Given the description of an element on the screen output the (x, y) to click on. 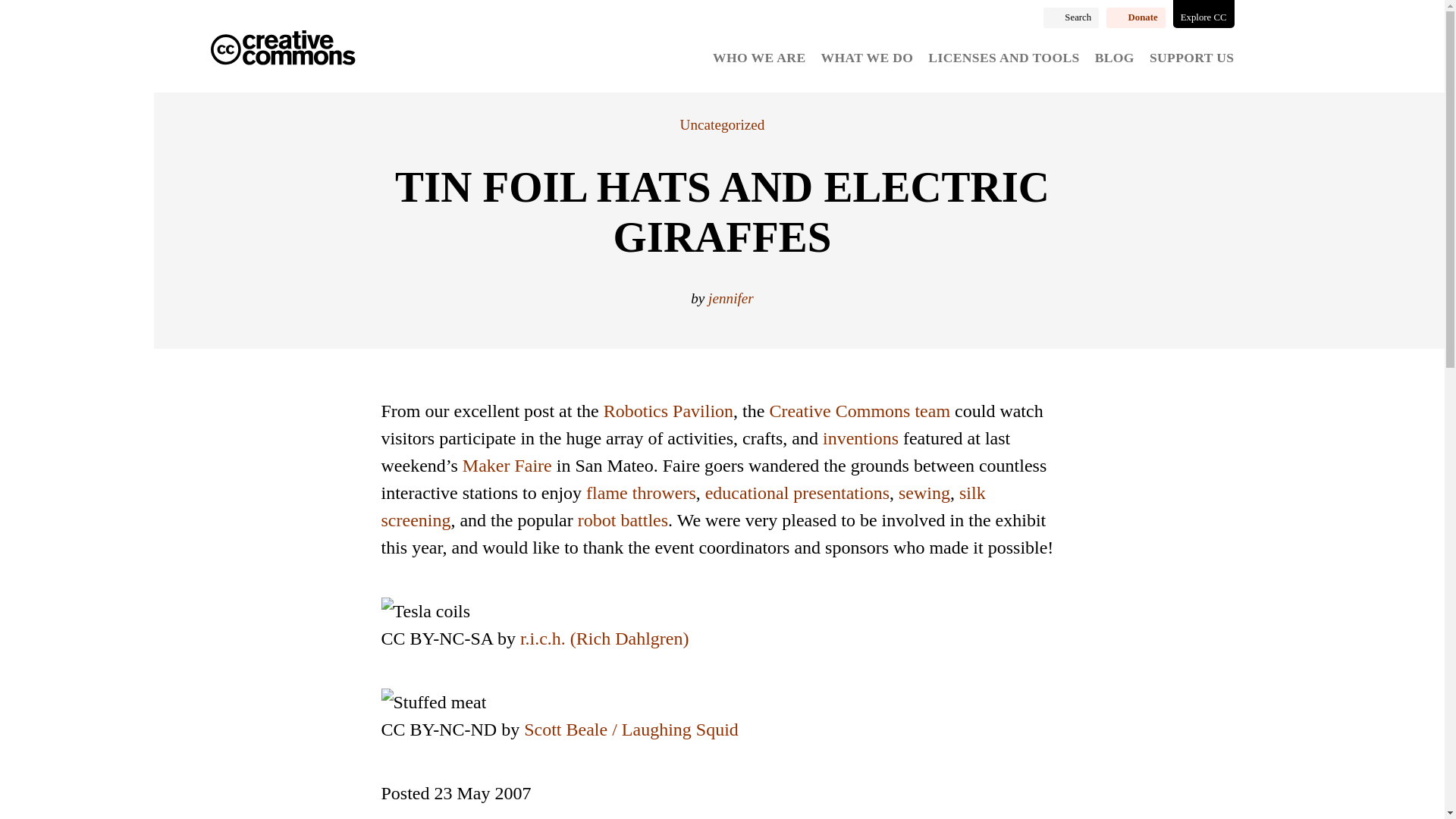
LICENSES AND TOOLS (1003, 57)
Explore CC (1203, 13)
Maker Faire (507, 465)
sewing (924, 492)
robot battles (623, 519)
Creative Commons team (859, 410)
inventions (860, 437)
Robotics Pavilion (668, 410)
Uncategorized (722, 124)
WHO WE ARE (759, 57)
